Given the description of an element on the screen output the (x, y) to click on. 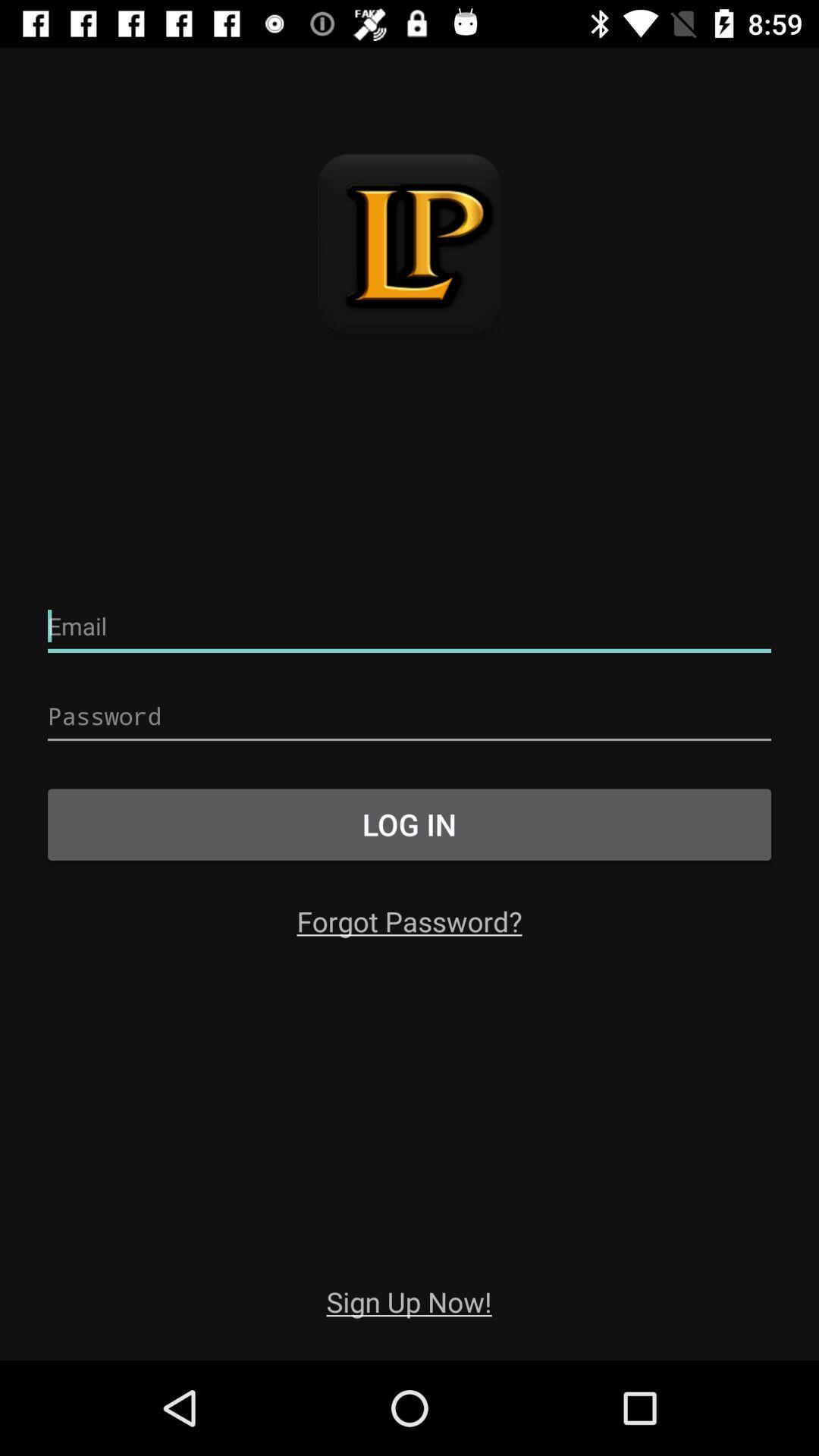
enter your email id (409, 626)
